Given the description of an element on the screen output the (x, y) to click on. 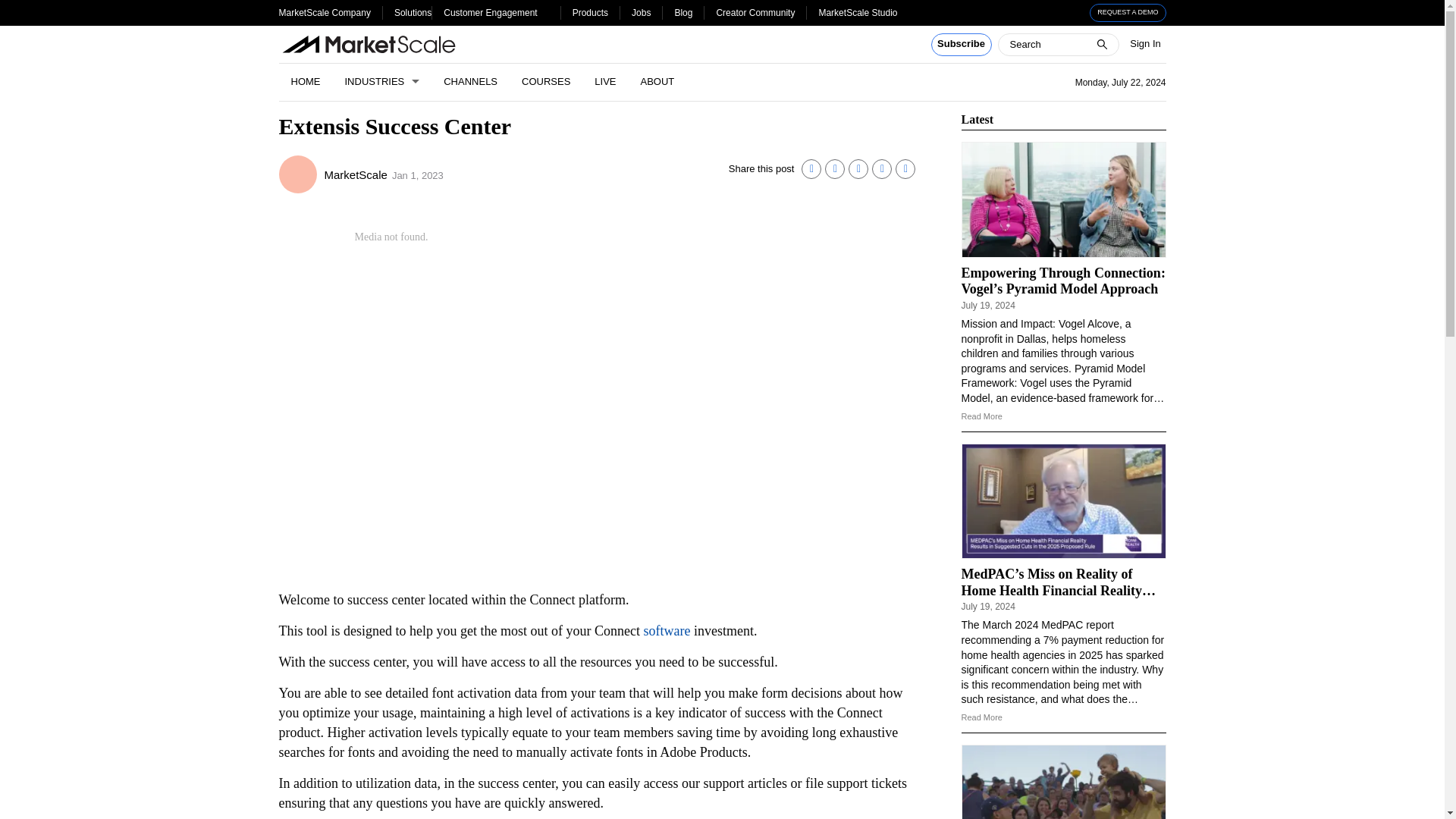
Products (590, 12)
Creator Community (755, 12)
Customer Engagement (490, 12)
MarketScale Studio (857, 12)
MarketScale Company (325, 12)
Search (21, 7)
Share on Email (881, 168)
MarketScale (298, 174)
Subscribe (961, 44)
Blog (683, 12)
MarketScale (355, 173)
Copy Link (905, 168)
Solutions (412, 12)
Jobs (640, 12)
Share on X (834, 168)
